Given the description of an element on the screen output the (x, y) to click on. 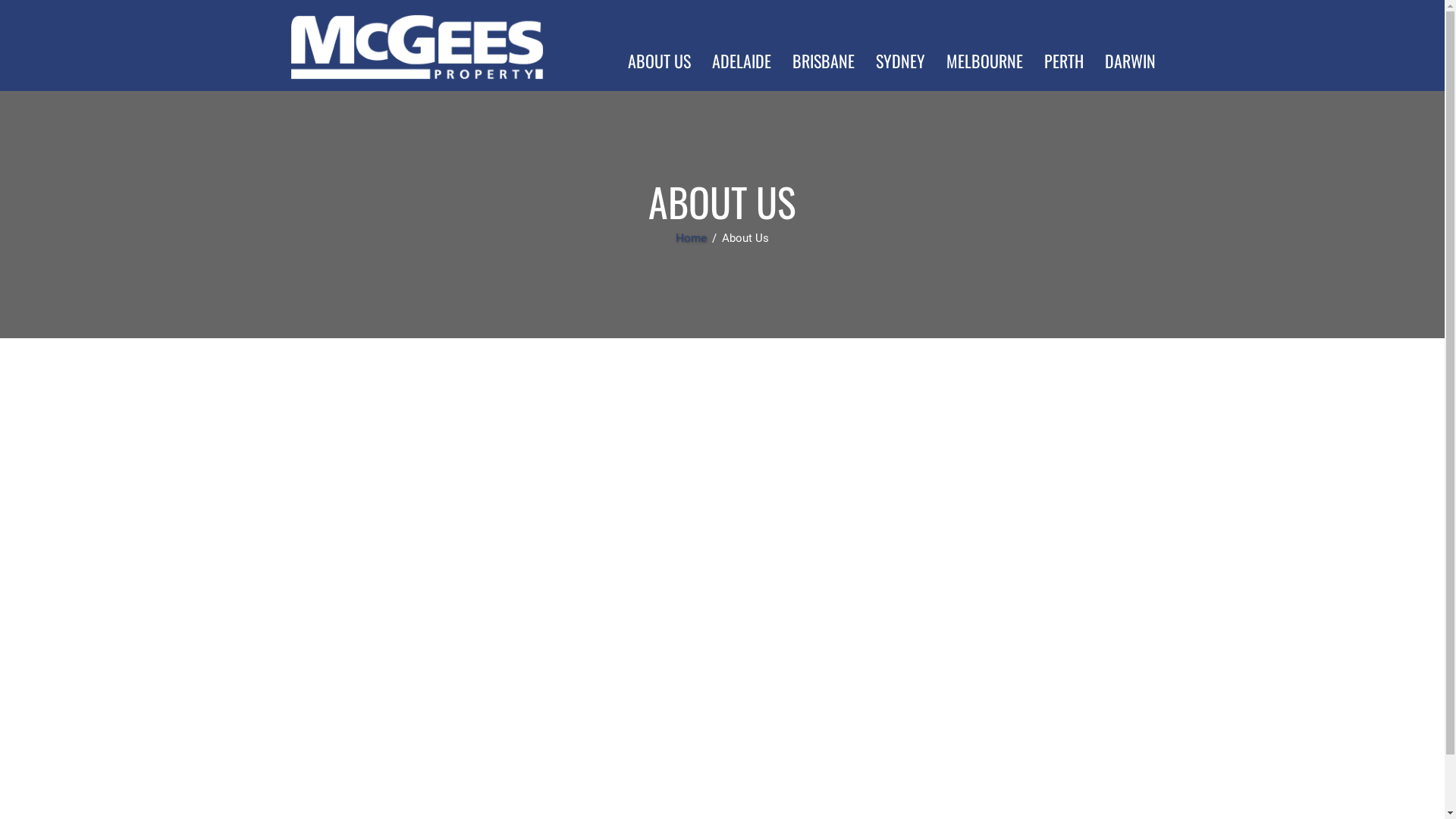
MELBOURNE Element type: text (984, 60)
Home Element type: text (692, 237)
ABOUT US Element type: text (659, 60)
DARWIN Element type: text (1129, 60)
ADELAIDE Element type: text (740, 60)
BRISBANE Element type: text (822, 60)
PERTH Element type: text (1062, 60)
SYDNEY Element type: text (899, 60)
